Given the description of an element on the screen output the (x, y) to click on. 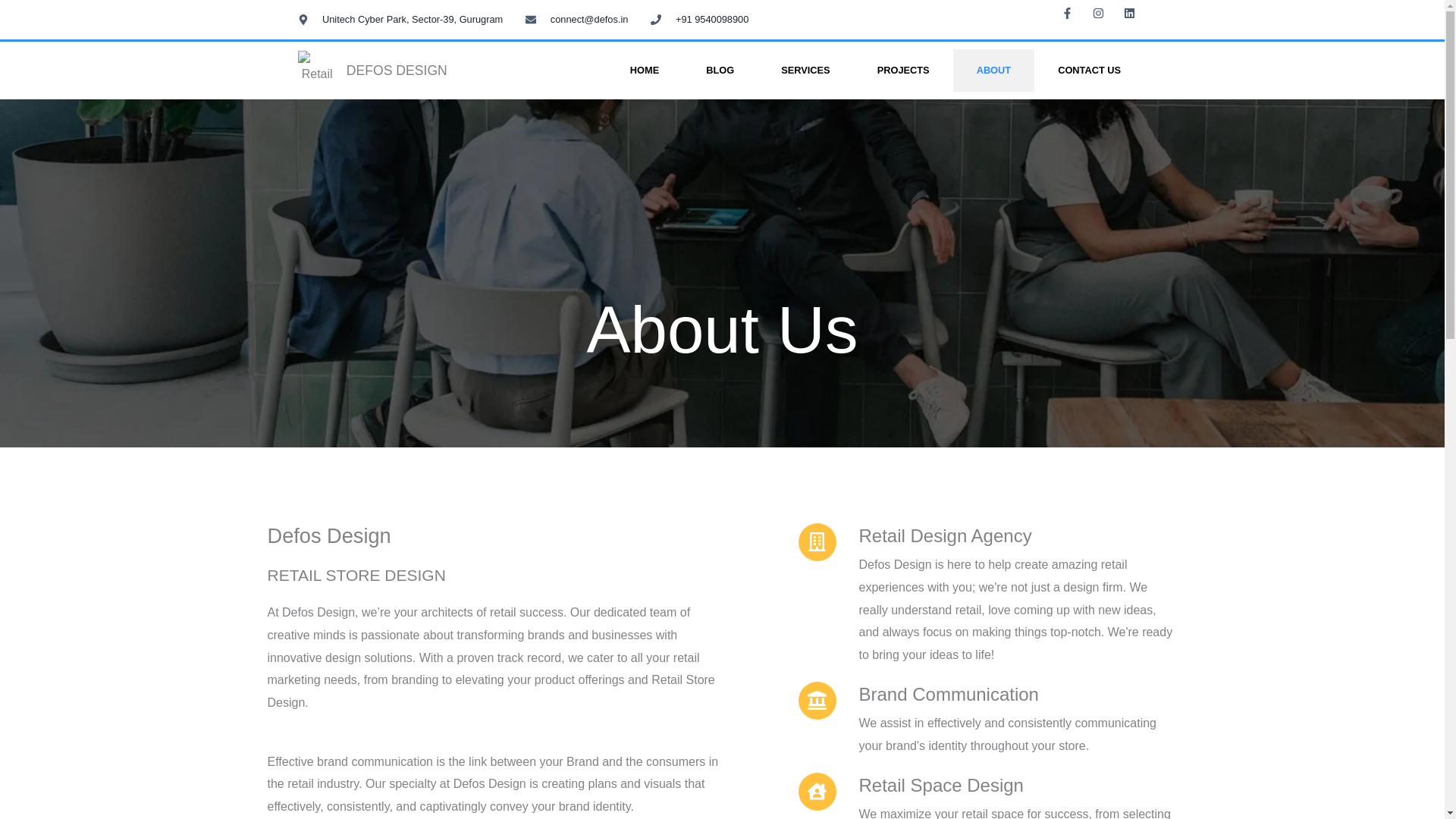
Linkedin (1135, 18)
PROJECTS (903, 70)
SERVICES (805, 70)
HOME (644, 70)
ABOUT (994, 70)
Instagram (1104, 18)
BLOG (719, 70)
CONTACT US (1088, 70)
Facebook-f (1072, 18)
